Given the description of an element on the screen output the (x, y) to click on. 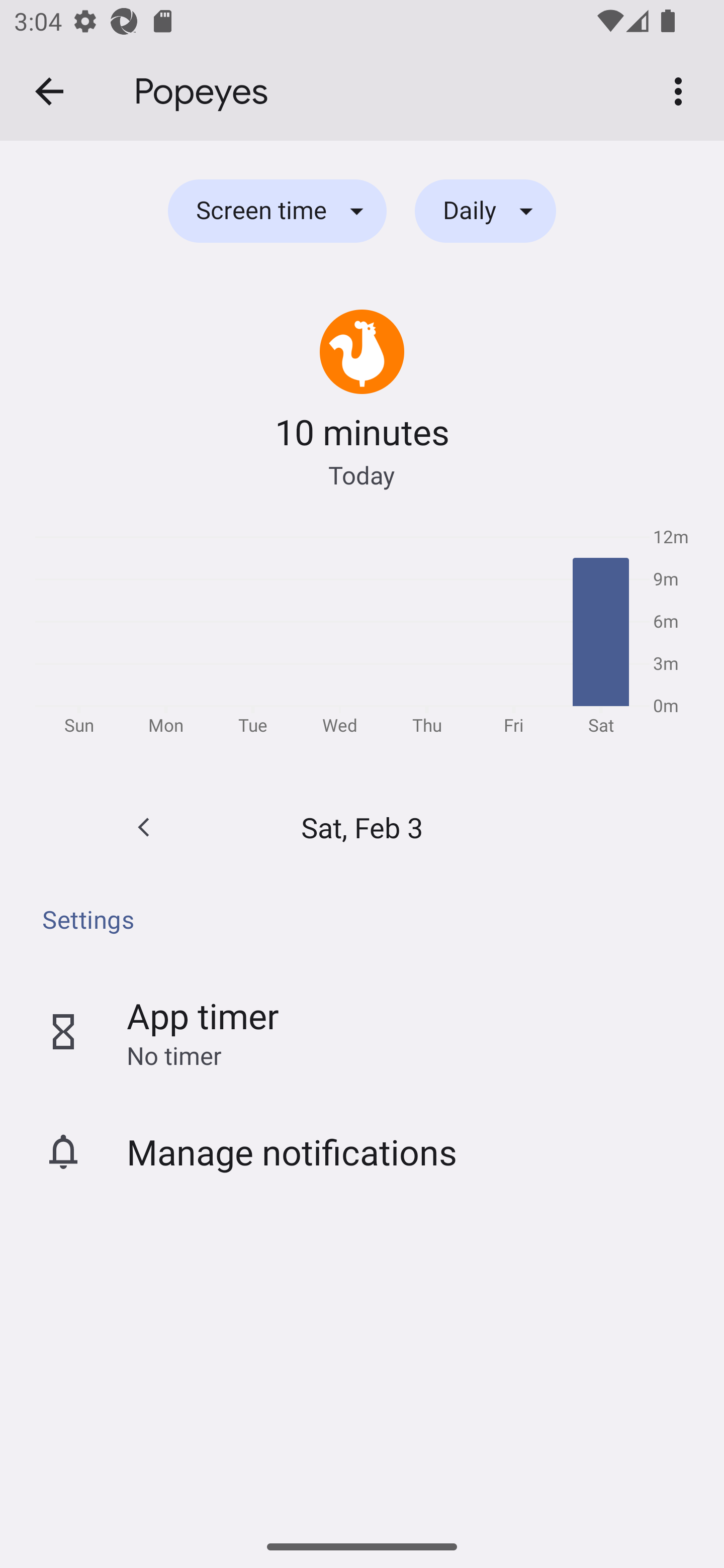
Navigate up (49, 91)
More options (681, 90)
Screen time (276, 211)
Daily (485, 211)
Go to the previous day (143, 826)
App timer No timer (362, 1032)
Manage notifications (362, 1151)
